Given the description of an element on the screen output the (x, y) to click on. 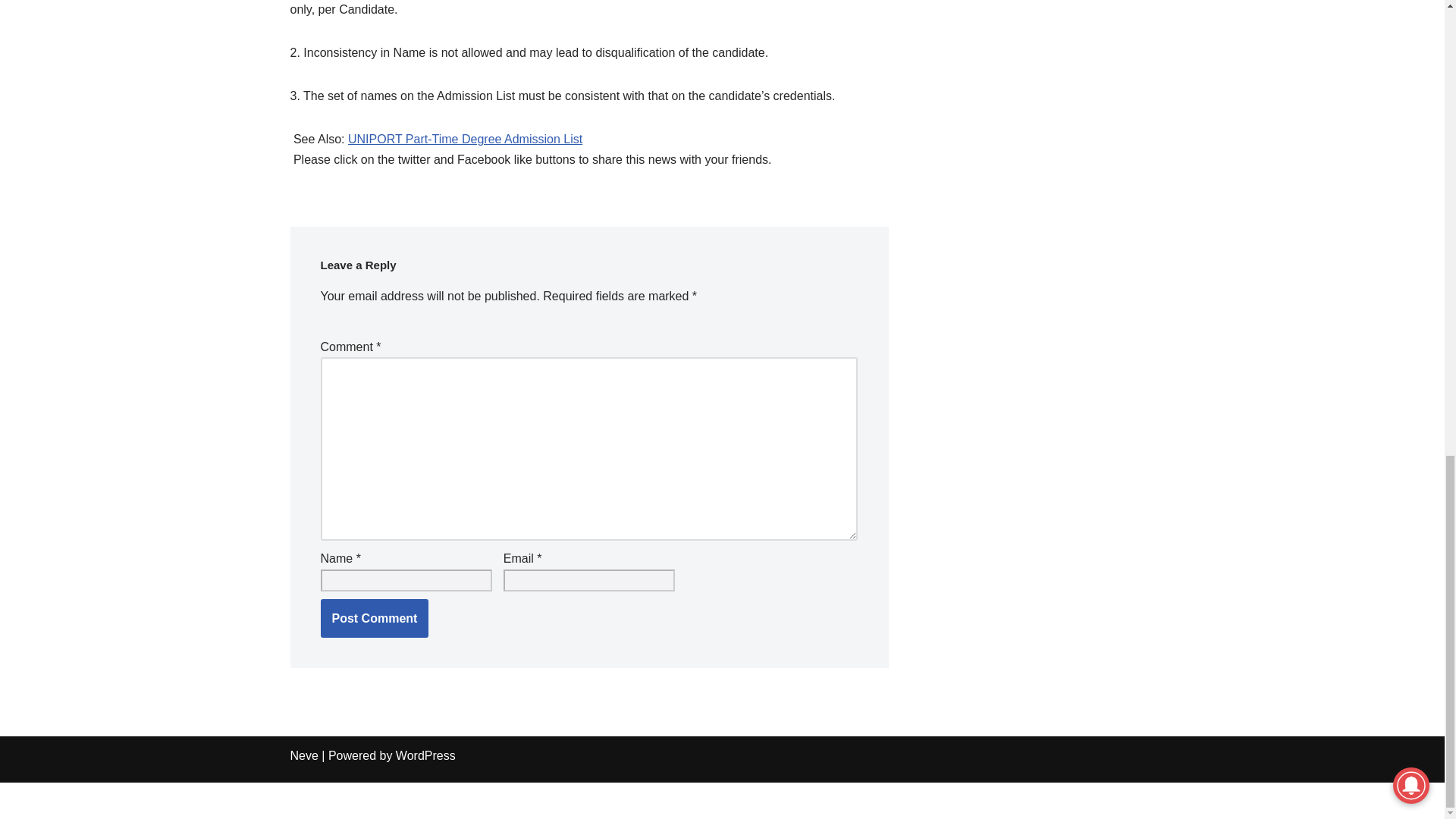
Post Comment (374, 618)
